Given the description of an element on the screen output the (x, y) to click on. 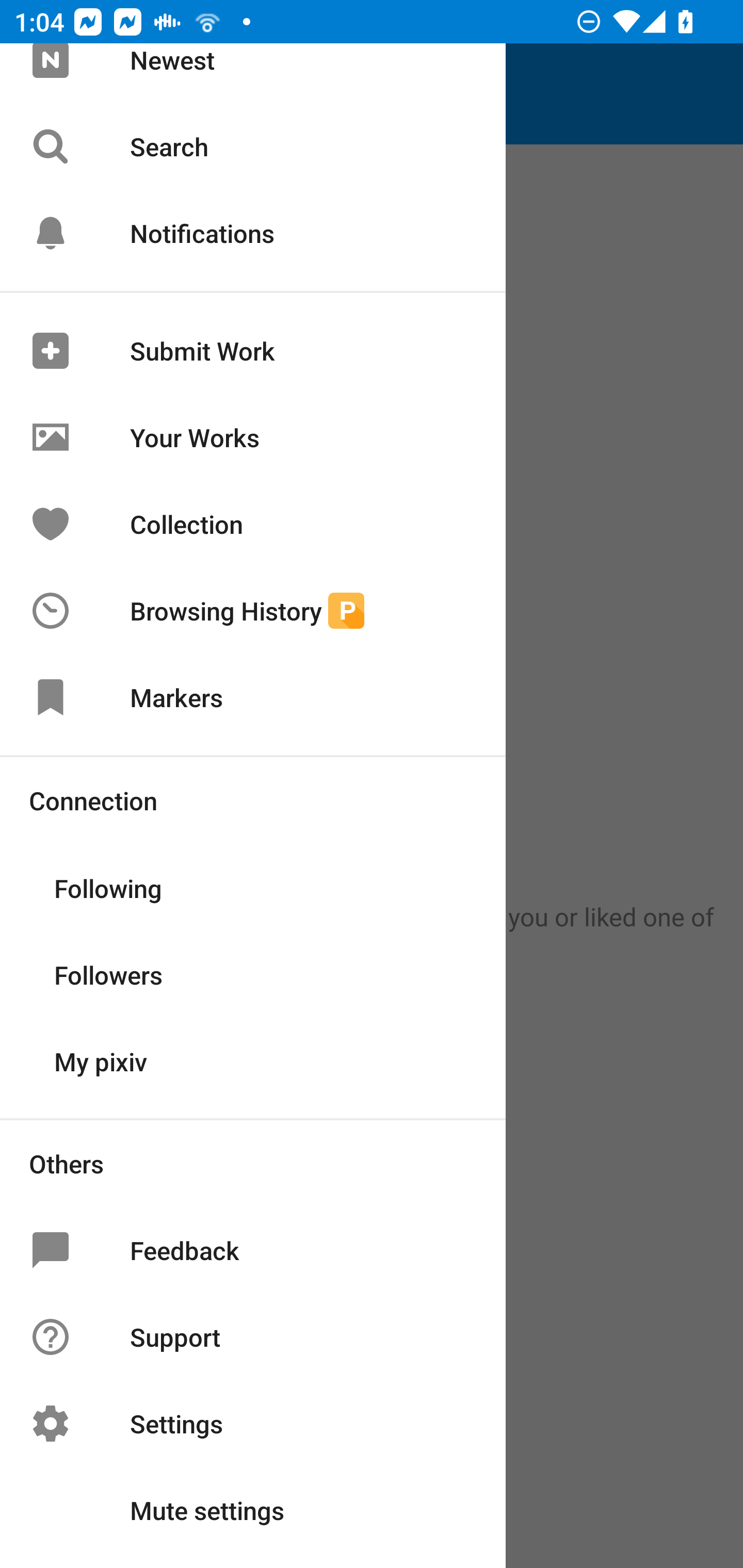
Newest (252, 73)
Search (252, 146)
Notifications (252, 232)
Submit Work (252, 350)
Your Works (252, 437)
Collection (252, 524)
Browsing History [P] (252, 610)
Markers (252, 696)
　Following (252, 886)
　Followers (252, 973)
　My pixiv (252, 1060)
Feedback (252, 1250)
Support (252, 1336)
Settings (252, 1423)
Mute settings (252, 1510)
